Given the description of an element on the screen output the (x, y) to click on. 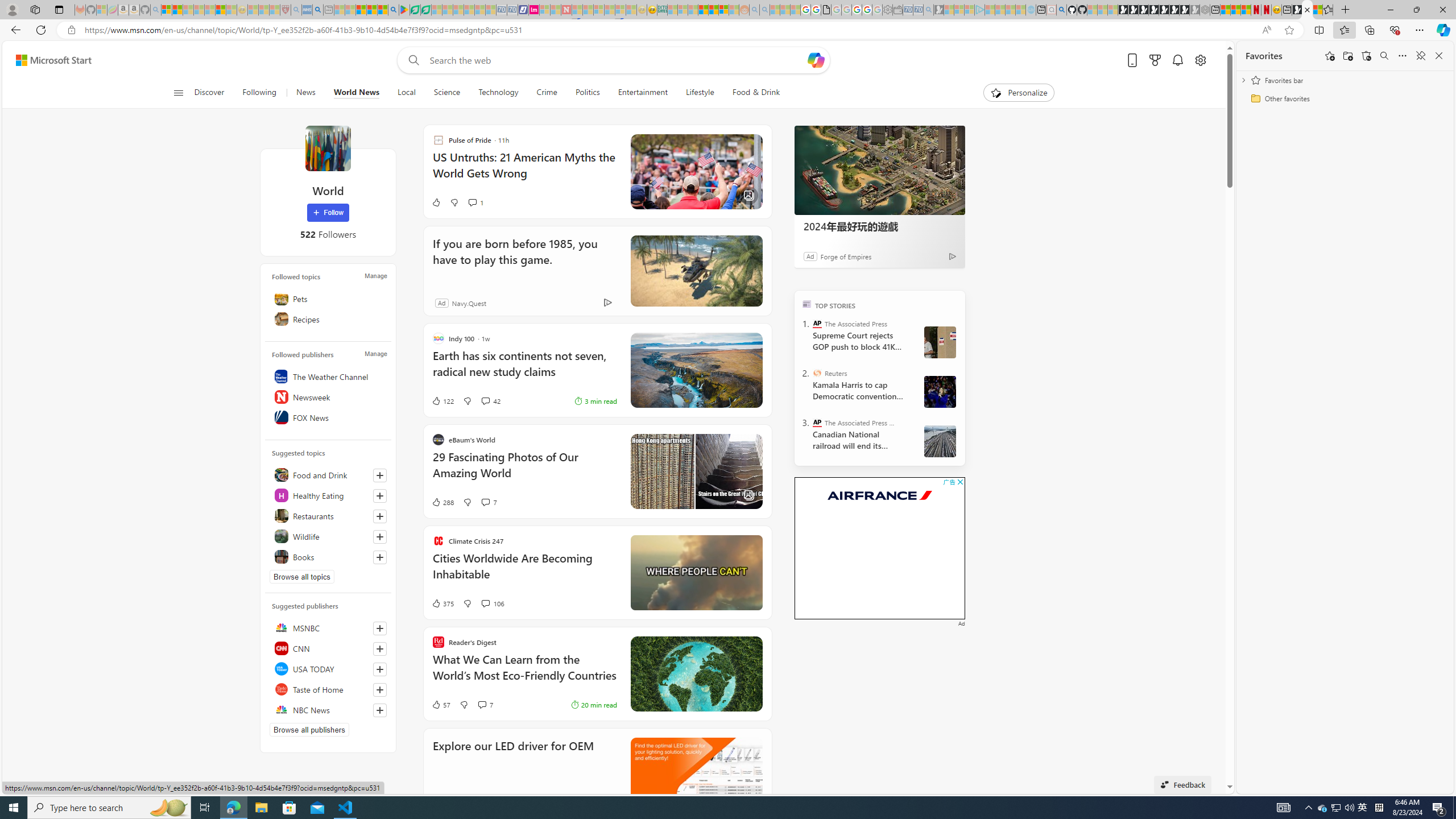
Browse all publishers (309, 729)
US Untruths: 21 American Myths the World Gets Wrong (524, 171)
World News (356, 92)
Crime (546, 92)
MSN (1297, 9)
New Report Confirms 2023 Was Record Hot | Watch - Sleeping (209, 9)
288 Like (442, 502)
Local (406, 92)
